Given the description of an element on the screen output the (x, y) to click on. 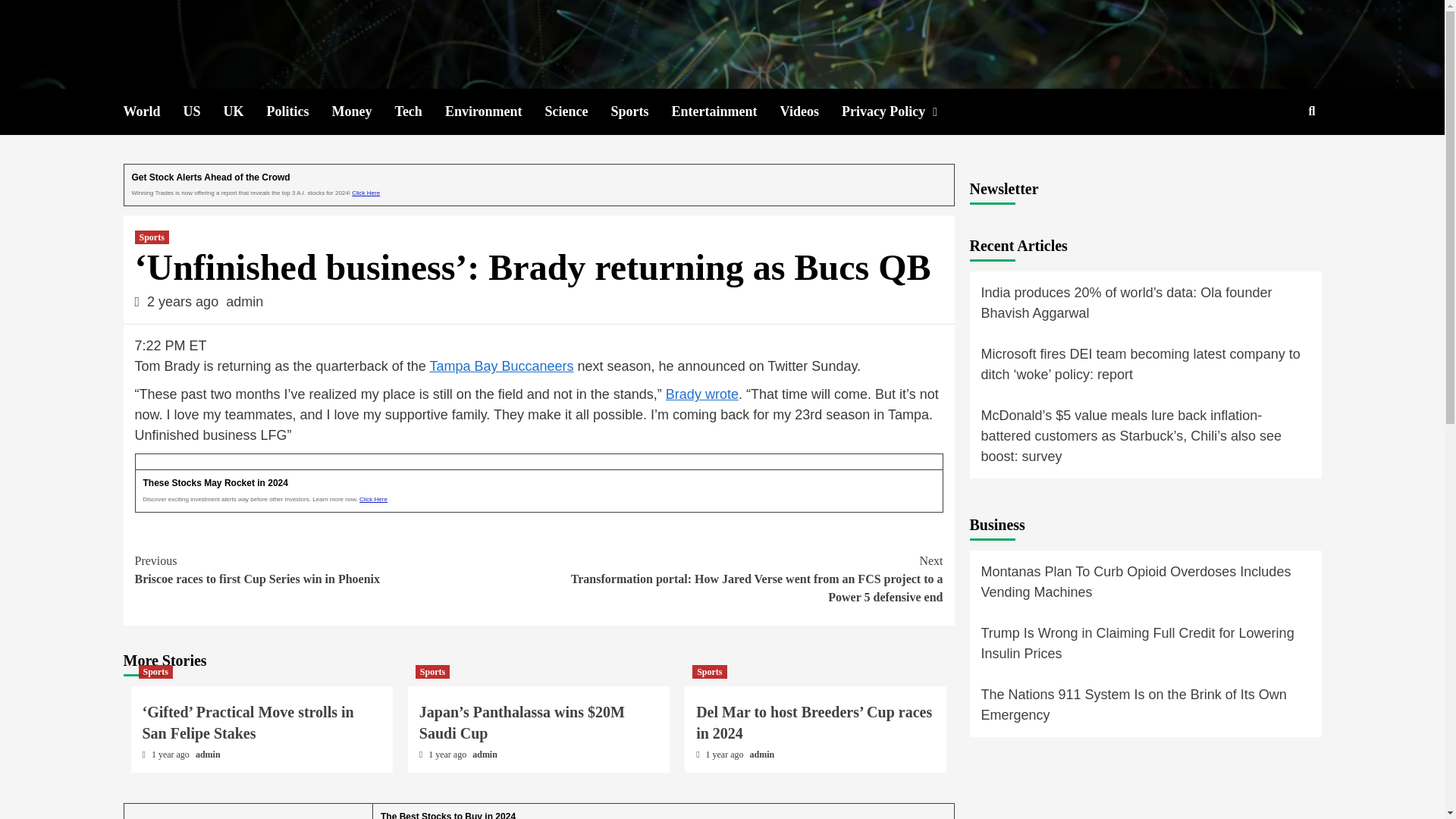
Entertainment (725, 111)
Search (1276, 160)
UK (245, 111)
Sports (154, 671)
Privacy Policy (904, 111)
Tech (419, 111)
Money (362, 111)
Brady wrote (701, 394)
Politics (298, 111)
Sports (641, 111)
Tampa Bay Buccaneers (501, 365)
Videos (810, 111)
admin (244, 301)
